Given the description of an element on the screen output the (x, y) to click on. 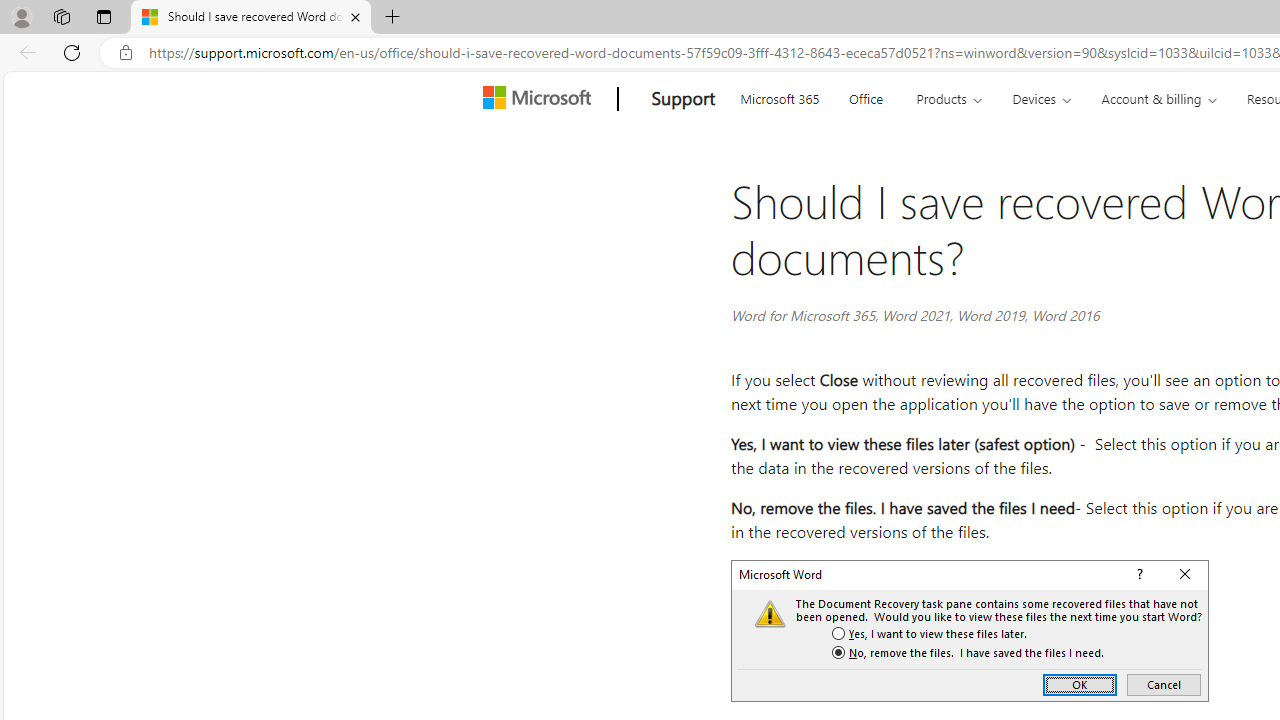
Microsoft (541, 99)
Should I save recovered Word documents? - Microsoft Support (250, 17)
View site information (125, 53)
New Tab (392, 17)
Office (865, 96)
Office (865, 96)
Support (683, 99)
Microsoft 365 (779, 96)
Back (24, 52)
Close tab (354, 16)
Microsoft 365 (780, 96)
Save document recovery dialog (969, 630)
